Given the description of an element on the screen output the (x, y) to click on. 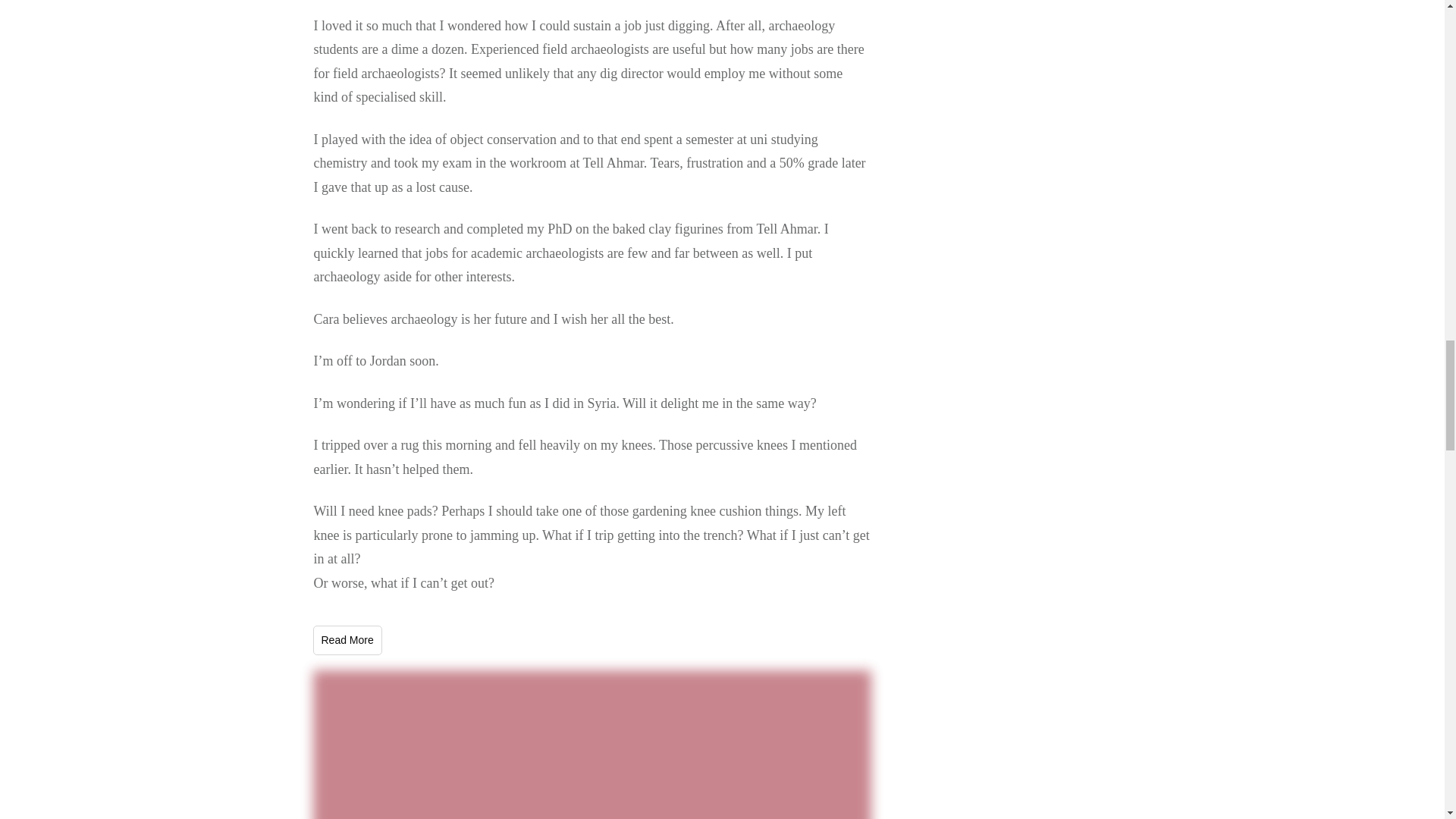
Read More (347, 640)
Halima and the Embroidery (591, 744)
